Given the description of an element on the screen output the (x, y) to click on. 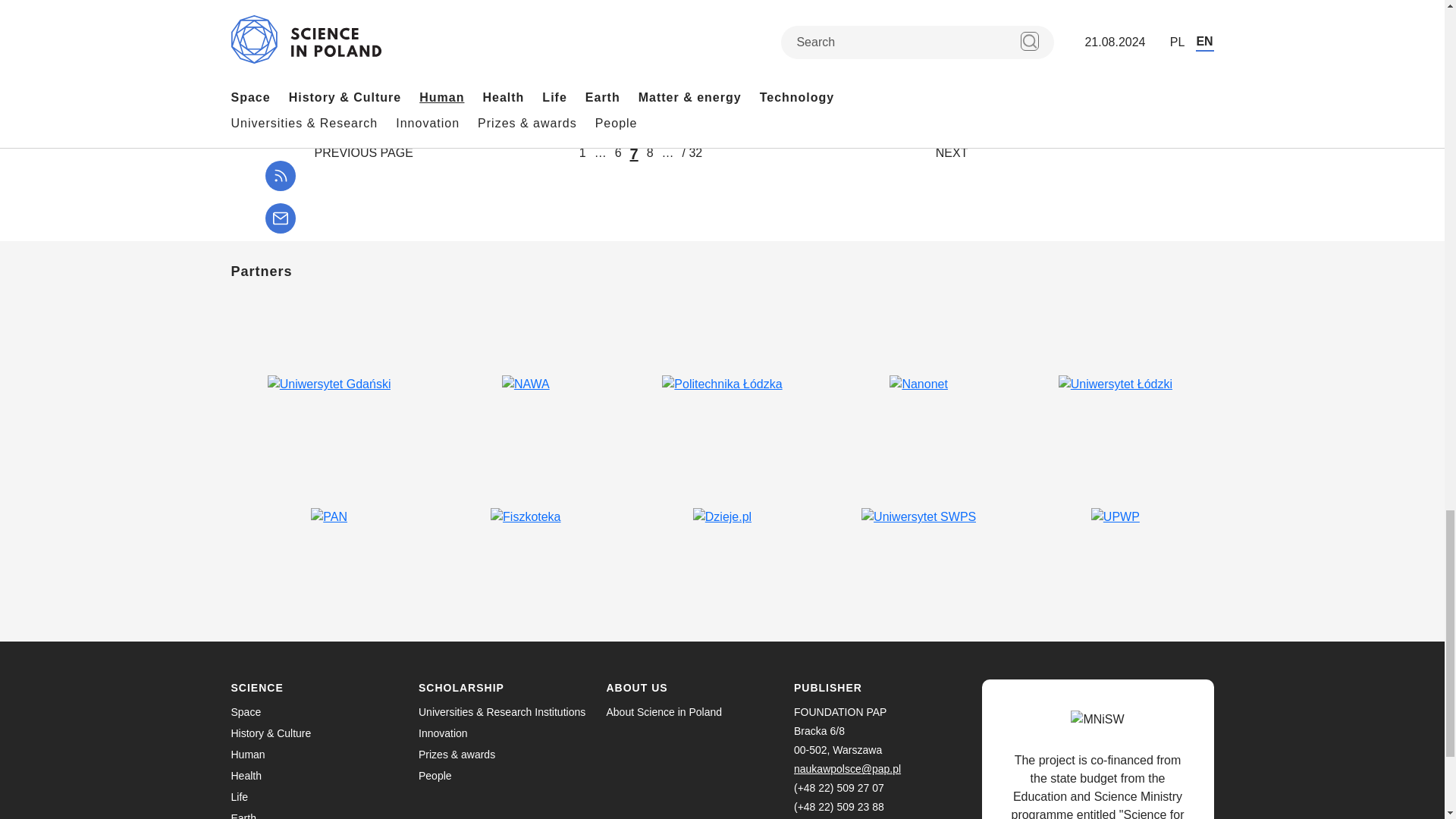
Go to previous page (363, 153)
Go to next page (952, 153)
Go to last page (692, 153)
